Given the description of an element on the screen output the (x, y) to click on. 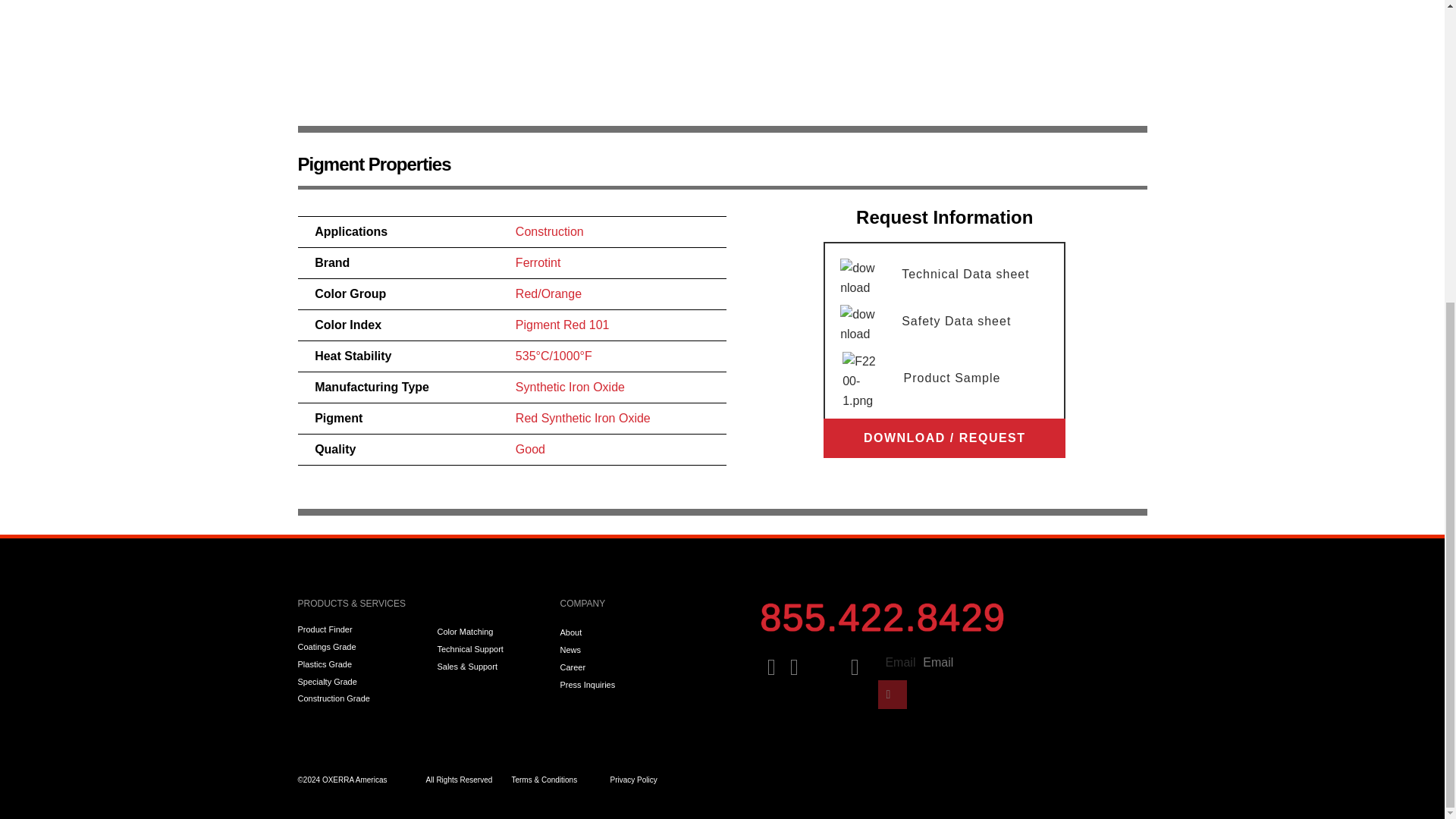
Color Matching (490, 632)
Good (529, 449)
Technical Support (490, 649)
Construction (549, 231)
About (651, 632)
Construction Grade (359, 698)
Specialty Grade (359, 682)
Red Synthetic Iron Oxide (582, 418)
Pigment Red 101 (562, 324)
download (859, 323)
